Given the description of an element on the screen output the (x, y) to click on. 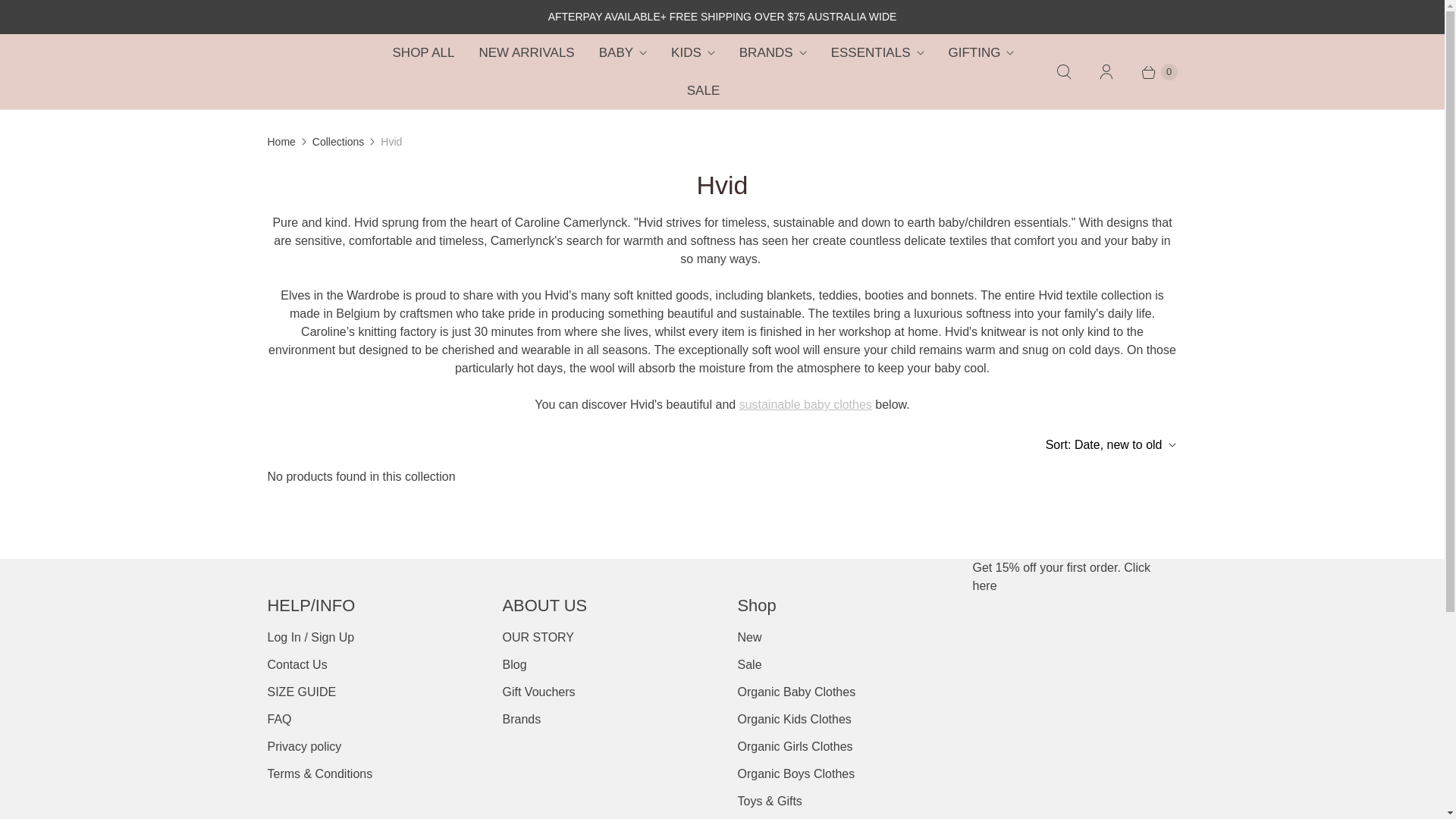
NEW ARRIVALS (525, 53)
SHOP ALL (423, 53)
